Given the description of an element on the screen output the (x, y) to click on. 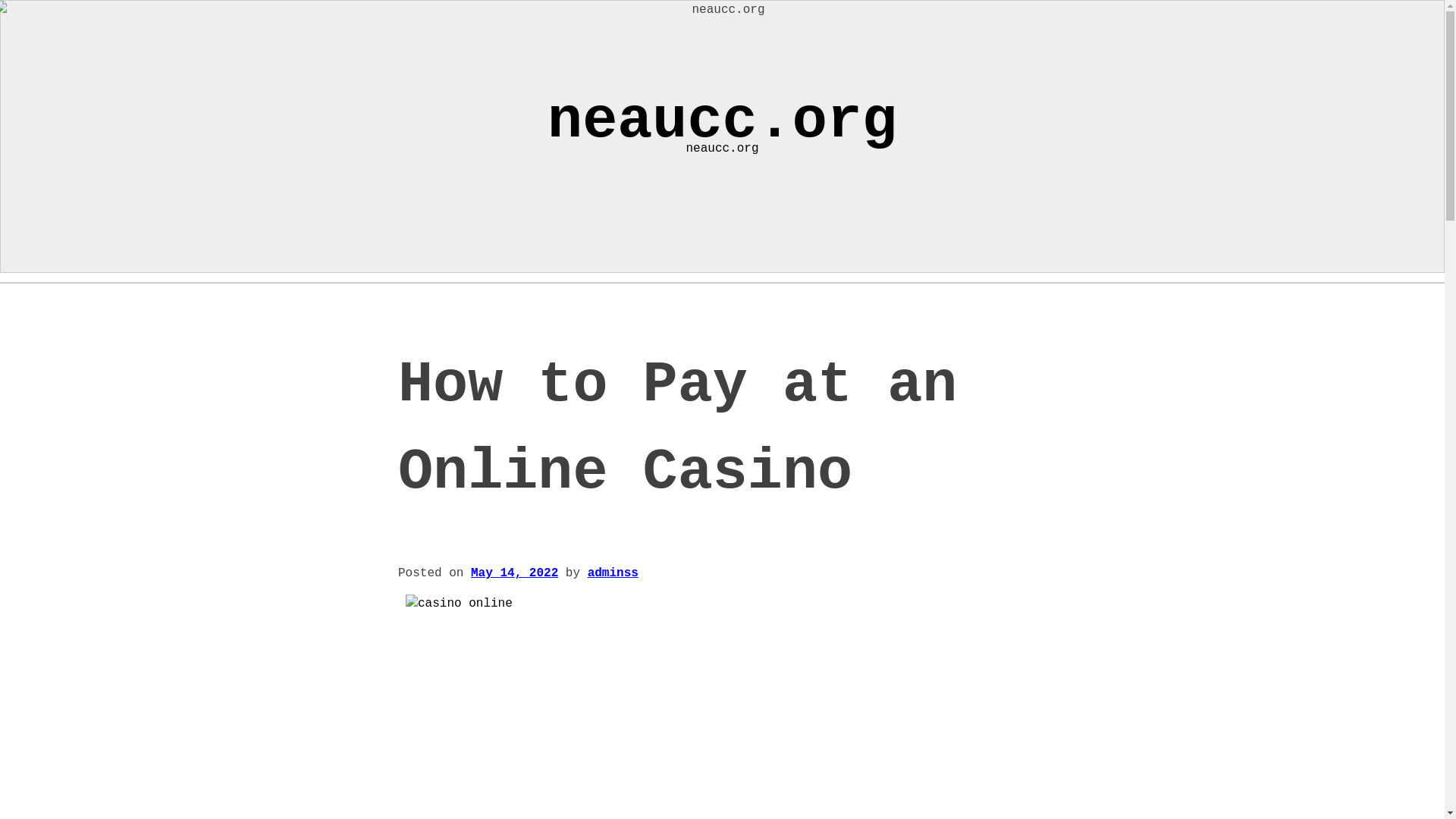
May 14, 2022 (513, 572)
adminss (613, 572)
neaucc.org (721, 120)
